Given the description of an element on the screen output the (x, y) to click on. 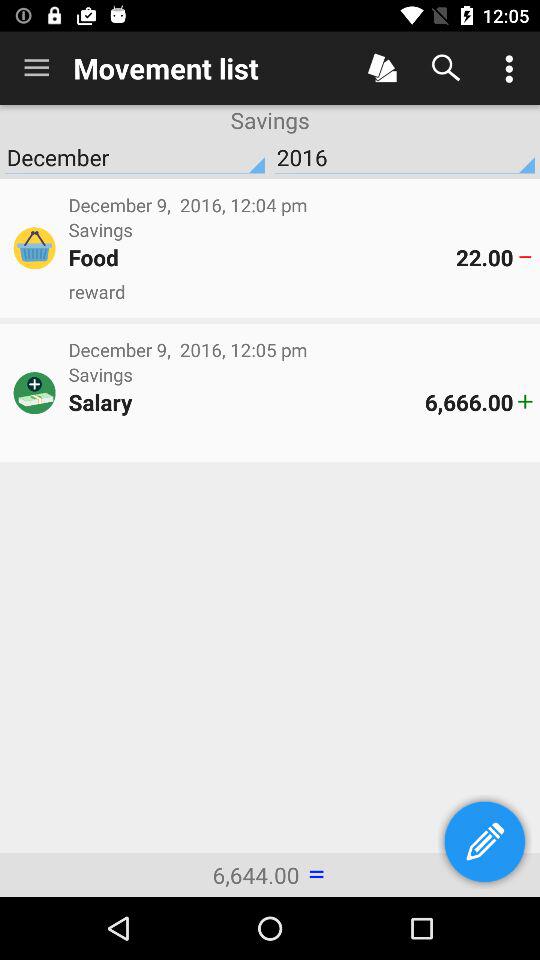
random selection (382, 67)
